Given the description of an element on the screen output the (x, y) to click on. 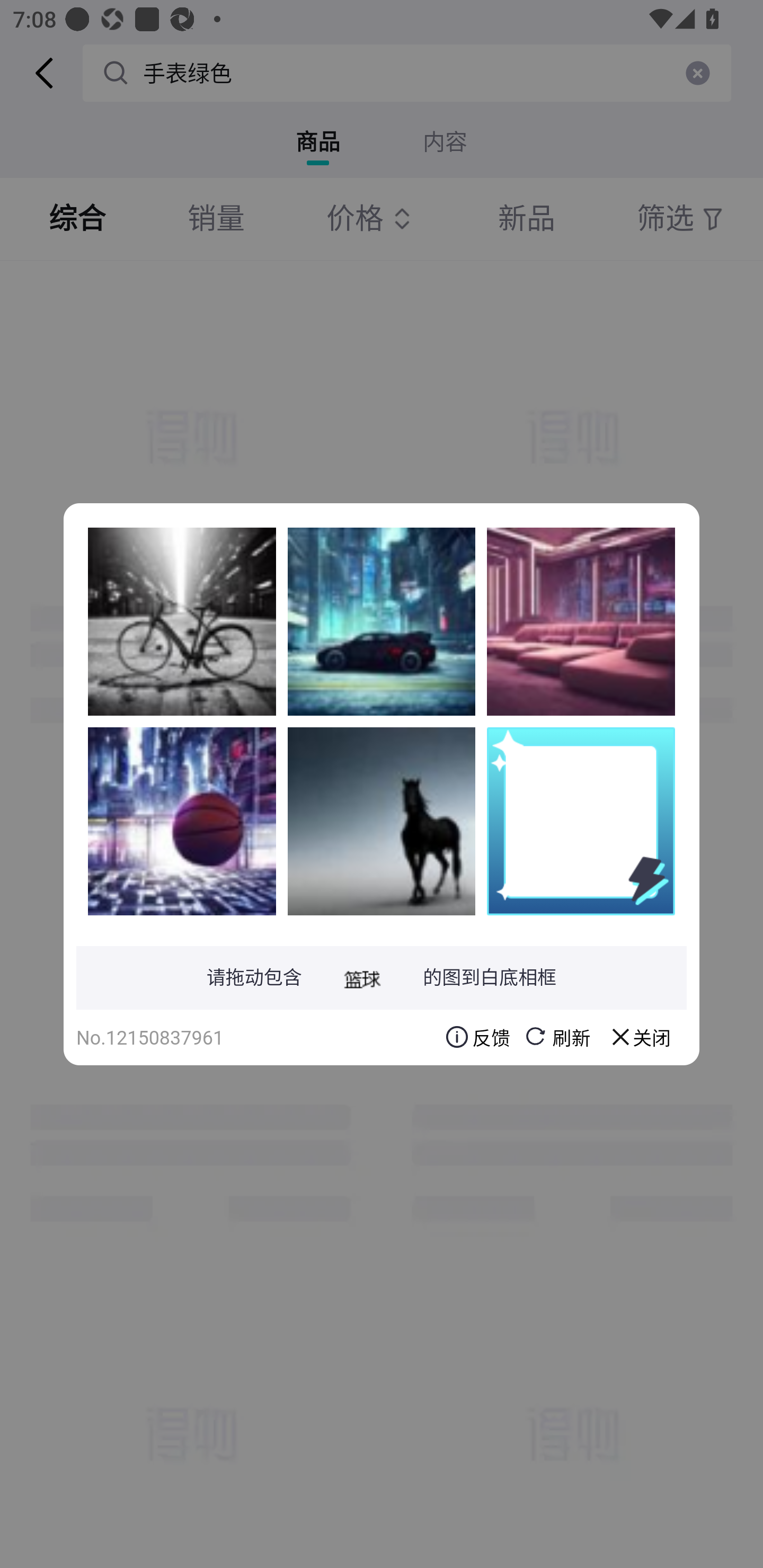
UJH (181, 621)
5LGdARnm1PIogRwhajRC1UJAuVDX0Yzv0gzxai4hgKWW (381, 621)
s3YUjF9uaErE3Woy7d6FvWJFP3ssvgJUB1BV50GHvQQ4 (580, 621)
GDHwN0 (181, 820)
